Given the description of an element on the screen output the (x, y) to click on. 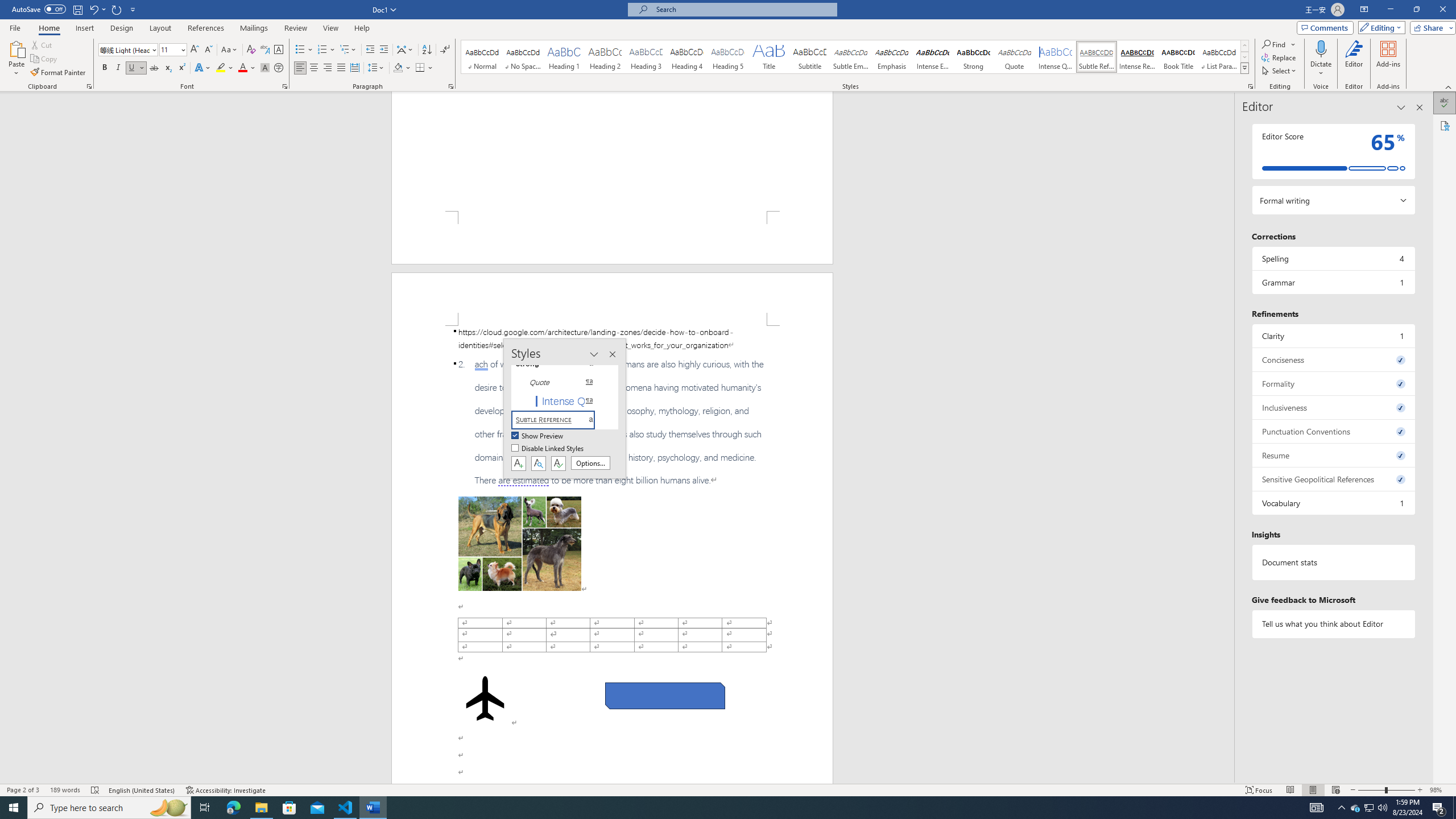
Spelling, 4 issues. Press space or enter to review items. (1333, 258)
Heading 3 (646, 56)
Editor Score 65% (1333, 151)
